Given the description of an element on the screen output the (x, y) to click on. 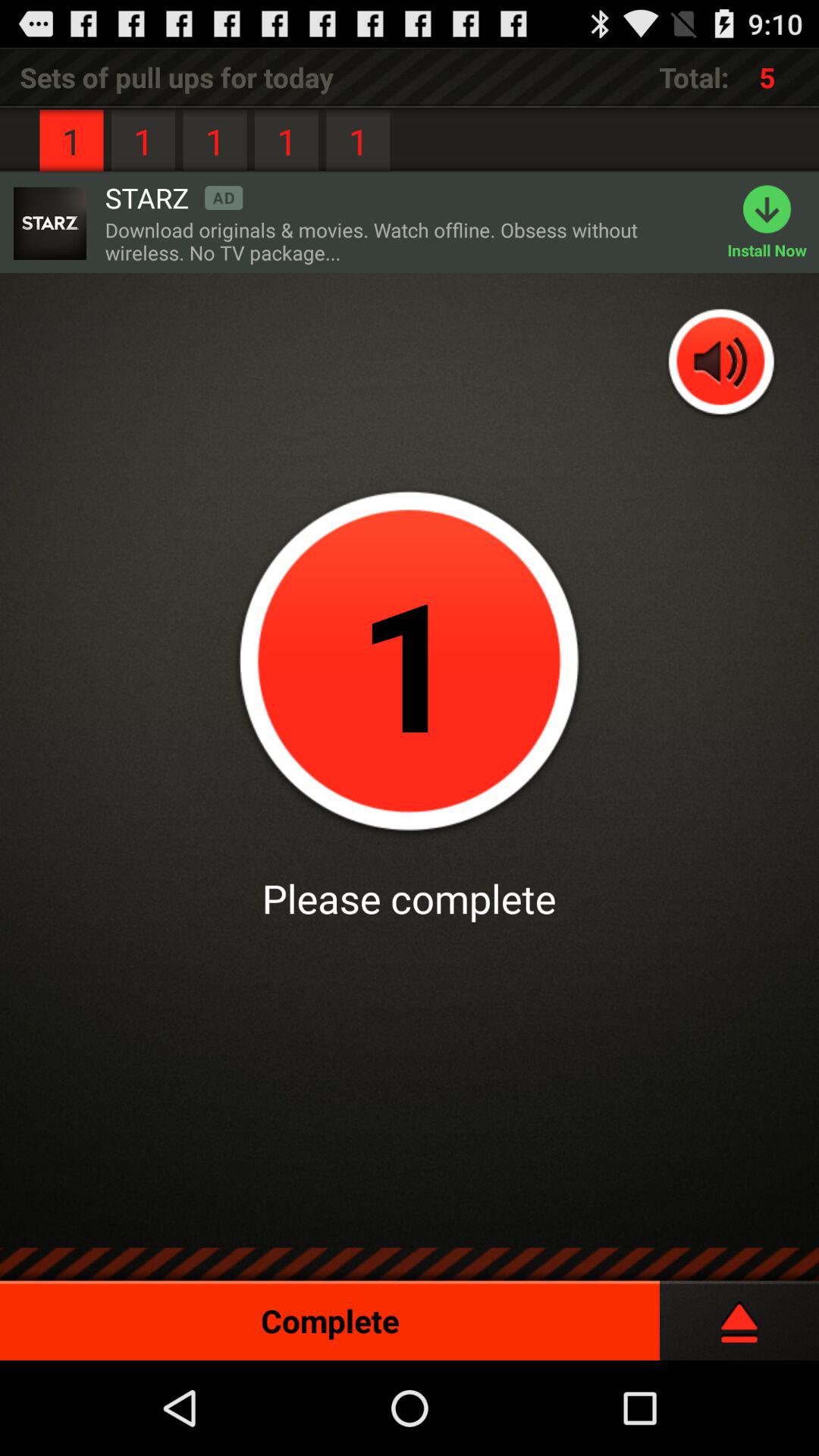
learn more (49, 222)
